Given the description of an element on the screen output the (x, y) to click on. 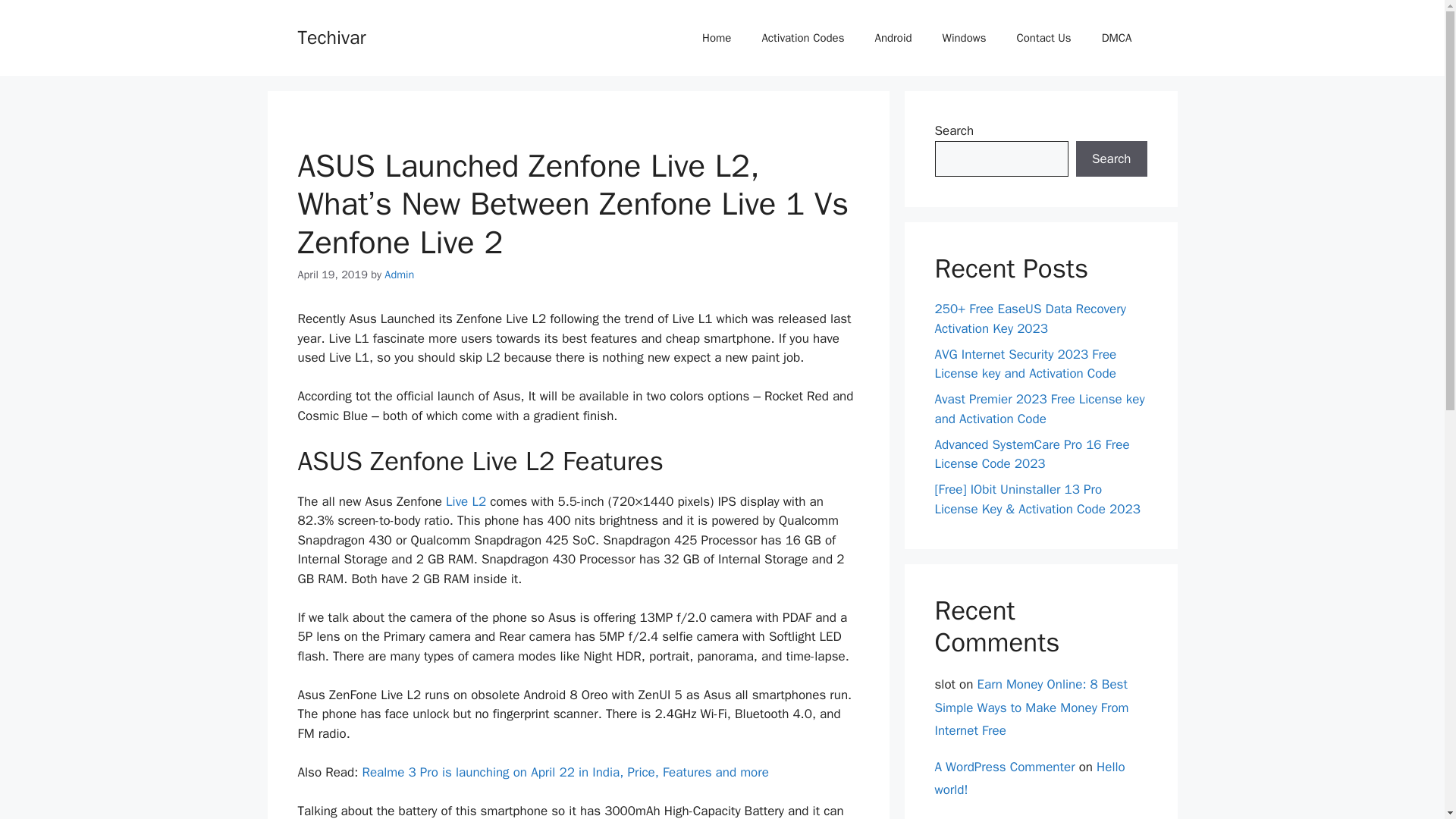
Avast Premier 2023 Free License key and Activation Code (1039, 408)
Android (892, 37)
View all posts by Admin (398, 274)
DMCA (1116, 37)
Techivar (331, 37)
Advanced SystemCare Pro 16 Free License Code 2023 (1031, 454)
Live L2 (465, 501)
Admin (398, 274)
